Given the description of an element on the screen output the (x, y) to click on. 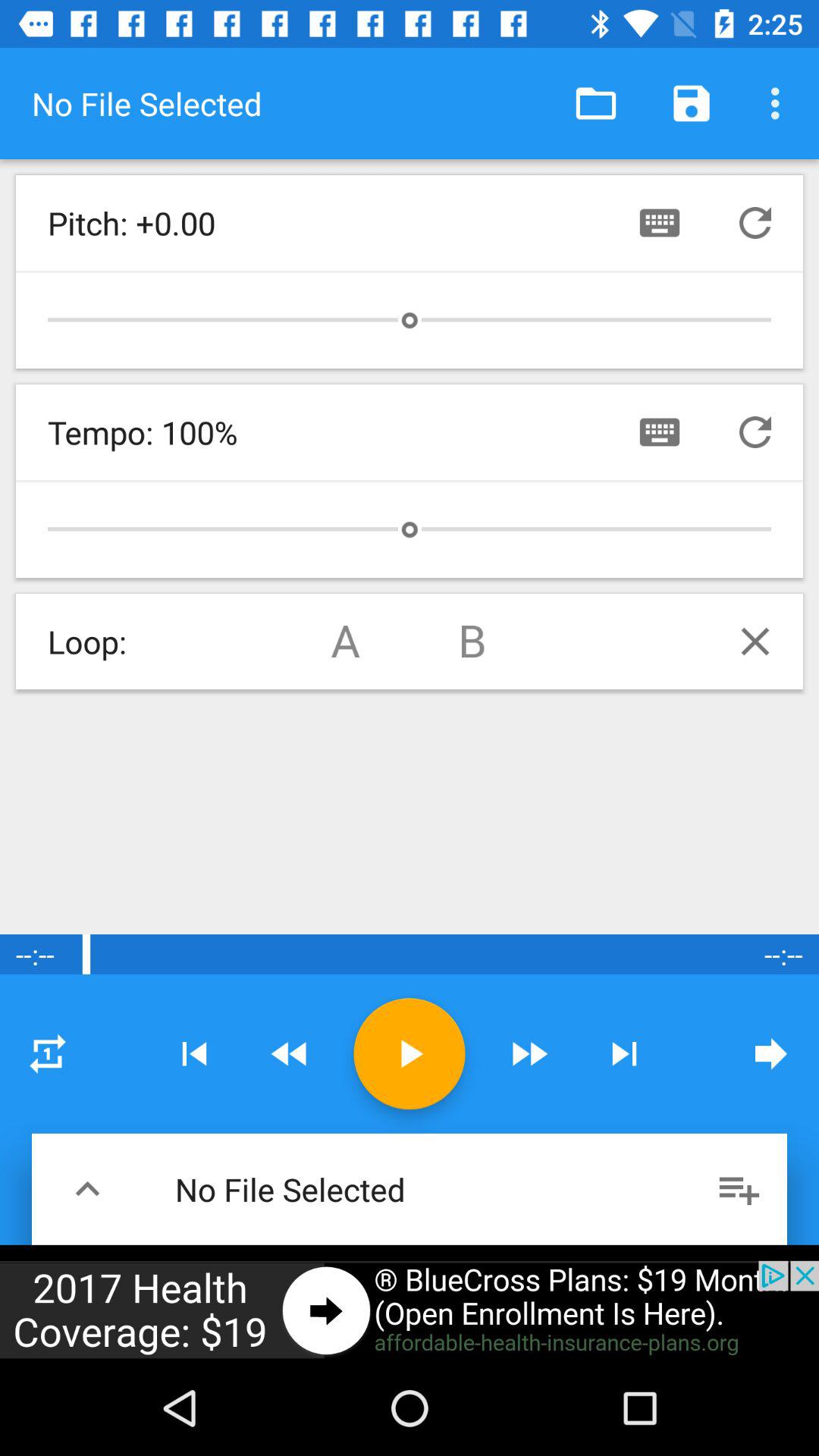
change track (194, 1053)
